Given the description of an element on the screen output the (x, y) to click on. 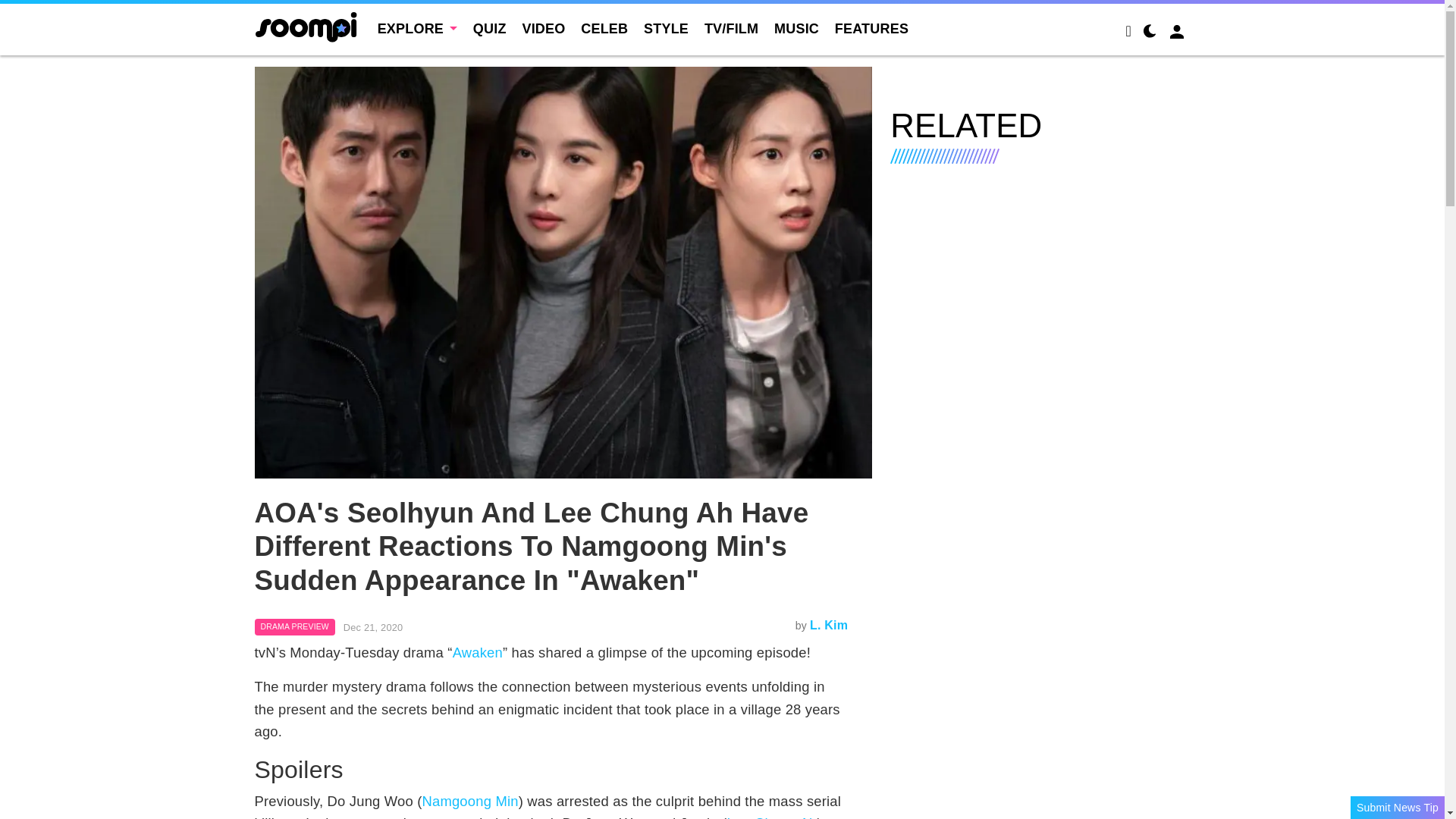
MUSIC (796, 28)
QUIZ (489, 28)
CELEB (603, 28)
EXPLORE (417, 28)
DRAMA PREVIEW (294, 627)
Awaken (477, 652)
Namgoong Min (470, 801)
Lee Chung Ah (771, 816)
FEATURES (871, 28)
VIDEO (542, 28)
